Given the description of an element on the screen output the (x, y) to click on. 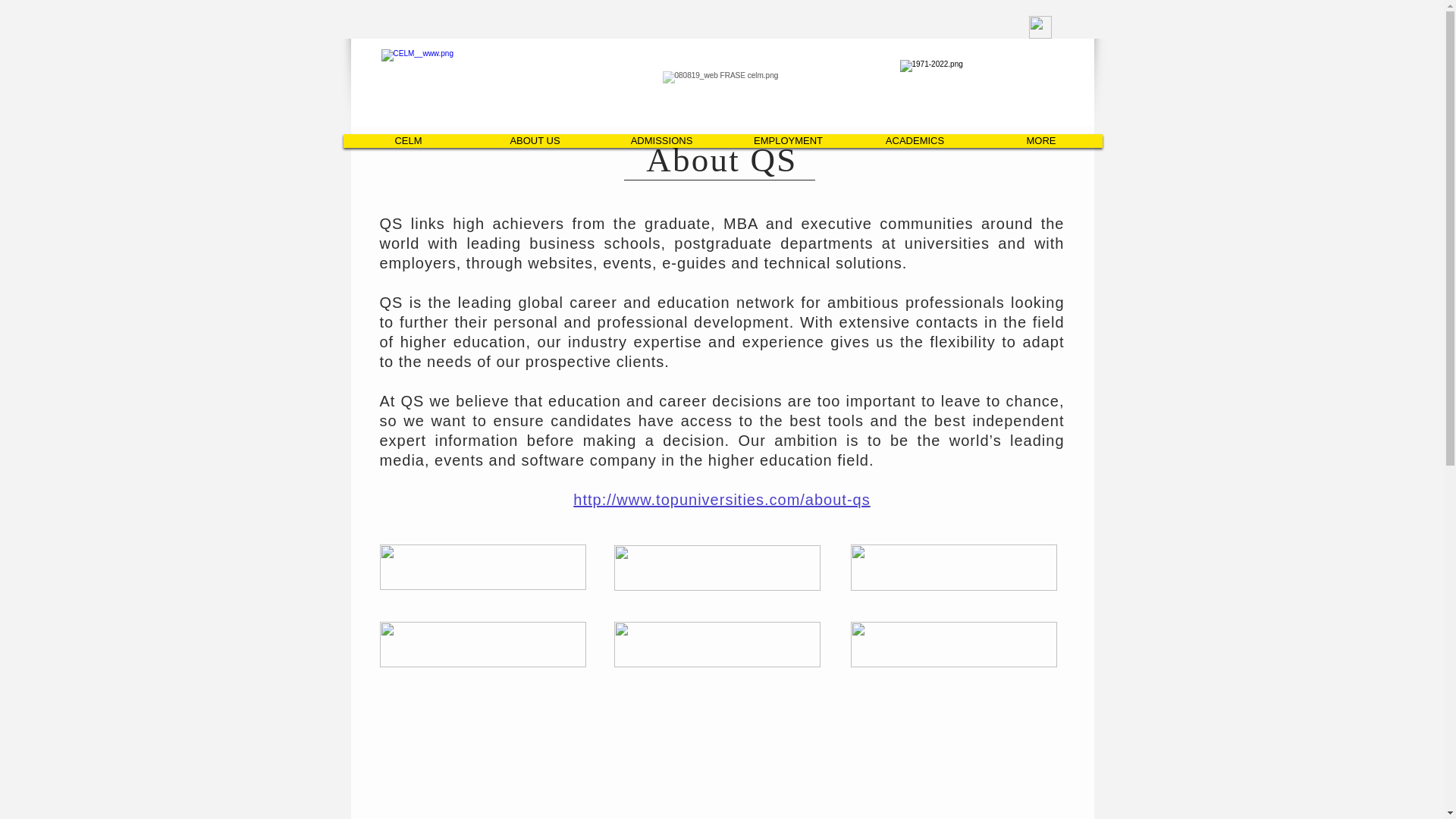
ABOUT US (534, 140)
ADMISSIONS (661, 140)
ACADEMICS (914, 140)
CELM (408, 140)
EMPLOYMENT (787, 140)
External YouTube (723, 754)
